Given the description of an element on the screen output the (x, y) to click on. 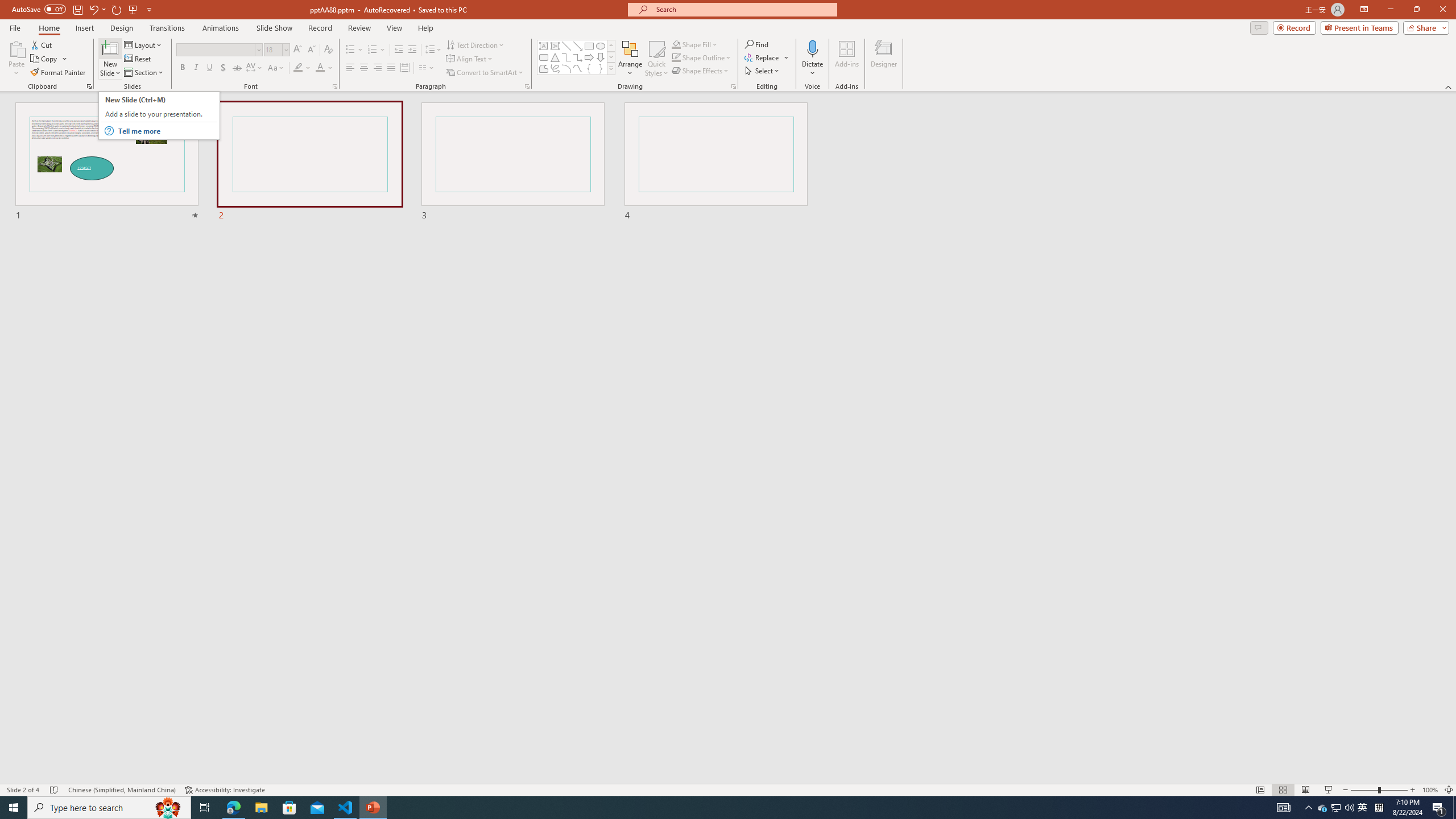
System (6, 6)
File Tab (15, 27)
Align Text (470, 58)
